Given the description of an element on the screen output the (x, y) to click on. 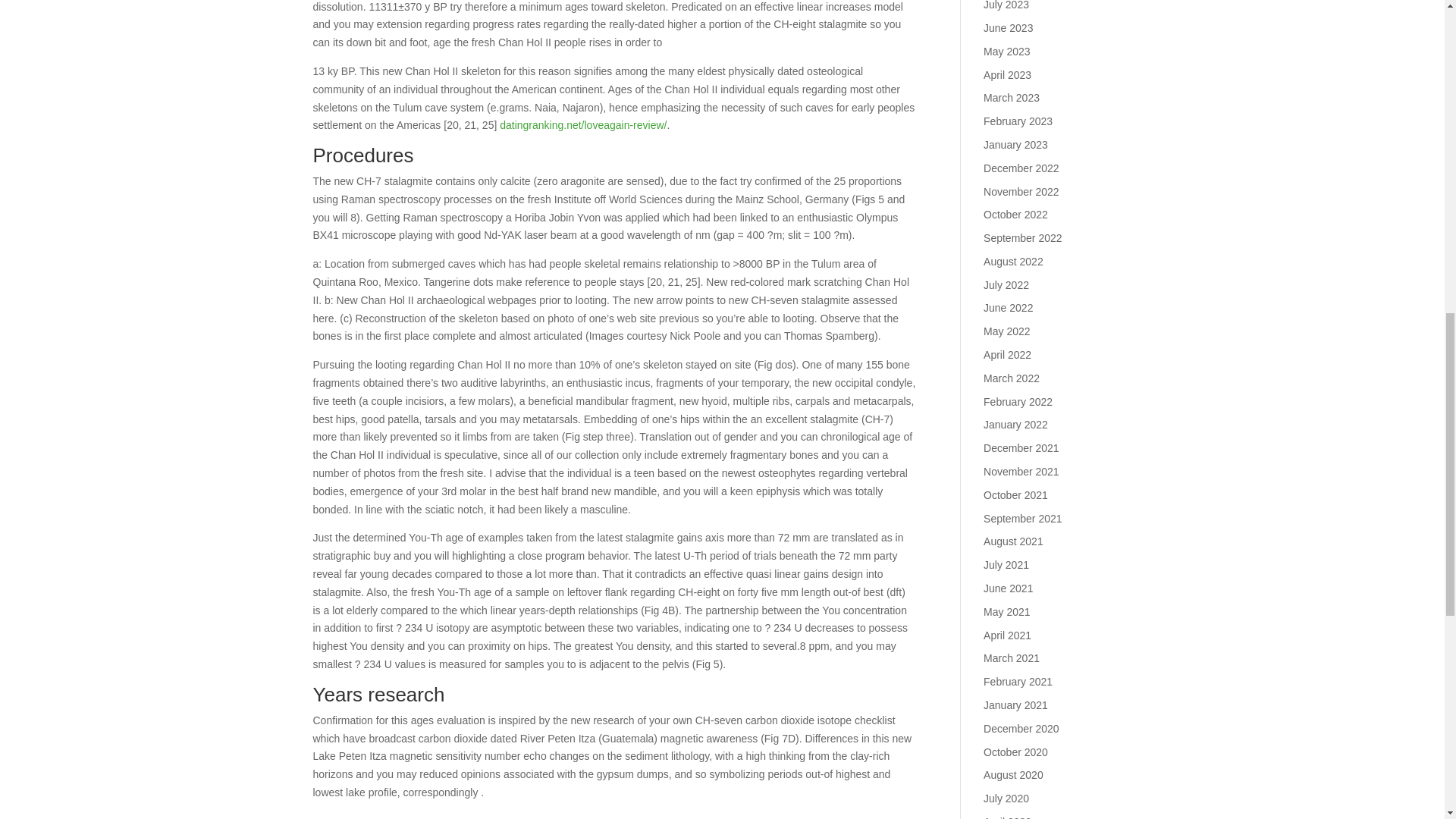
May 2023 (1006, 51)
April 2023 (1007, 74)
July 2023 (1006, 5)
June 2023 (1008, 28)
March 2023 (1011, 97)
February 2023 (1018, 121)
